Given the description of an element on the screen output the (x, y) to click on. 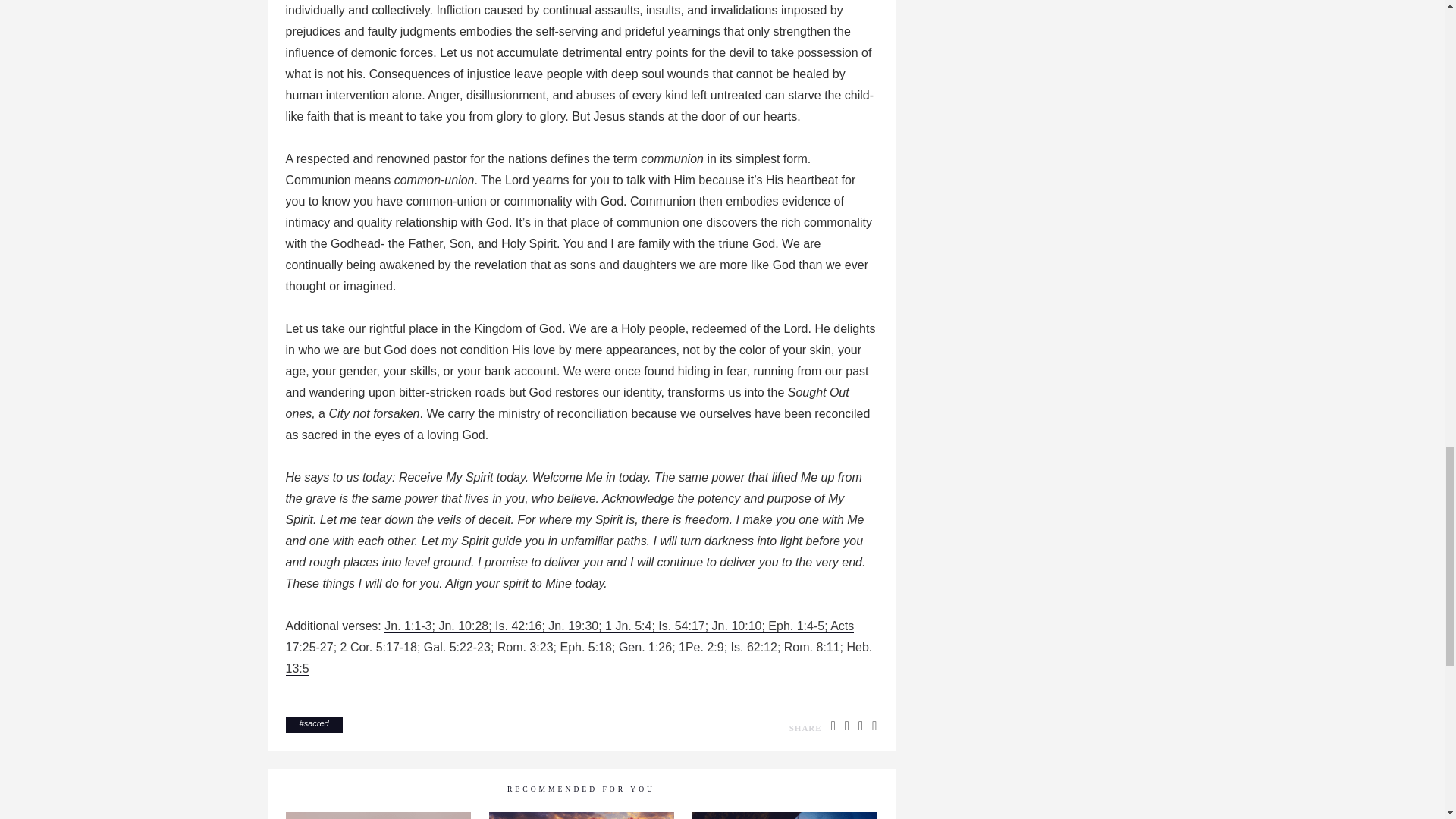
sacred (316, 723)
